Given the description of an element on the screen output the (x, y) to click on. 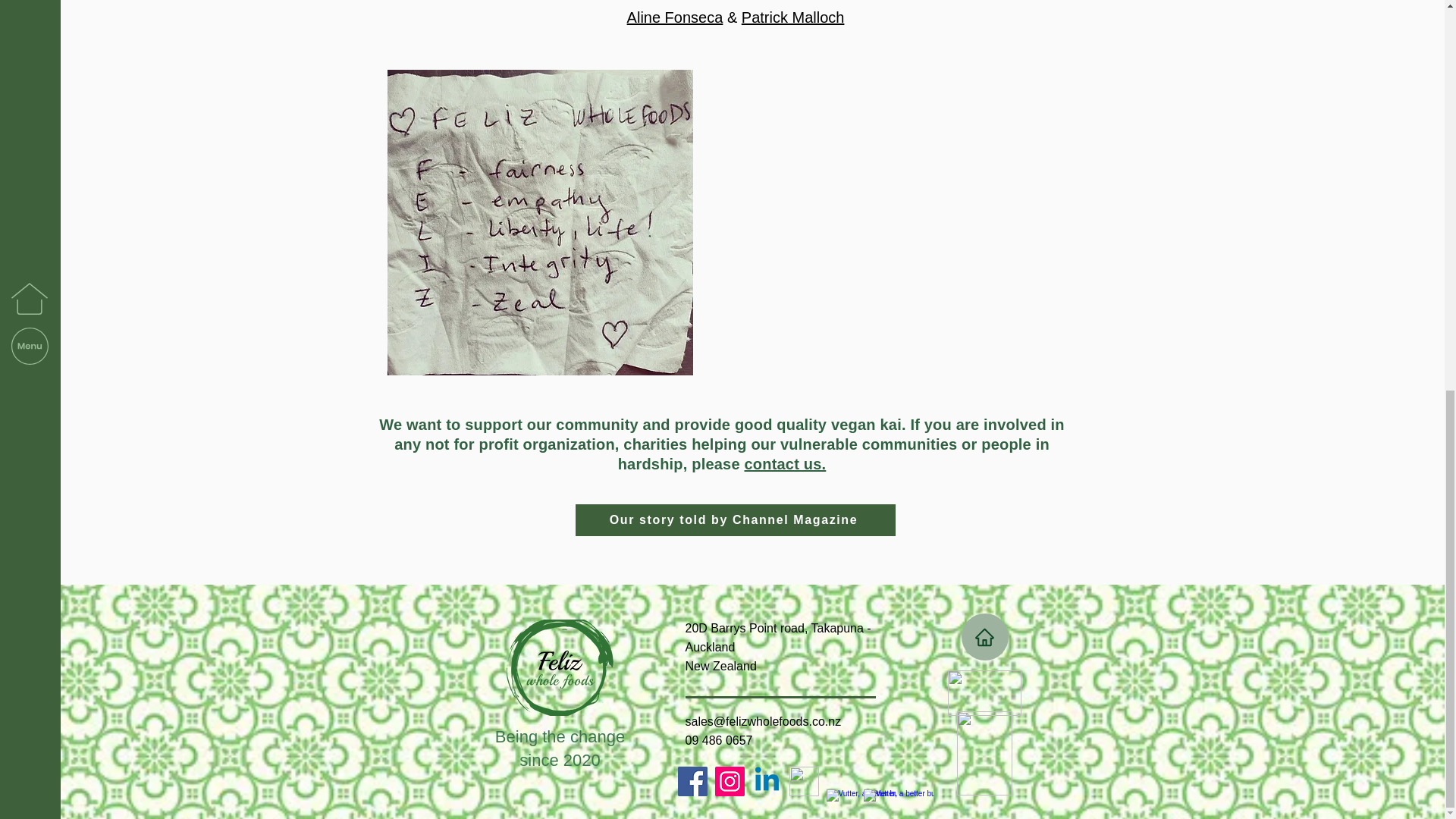
contact us. (785, 463)
Feliz Wholefoods and what we stand for (540, 222)
Our story told by Channel Magazine (735, 520)
Patrick Malloch (792, 17)
Get inspired (984, 692)
Aline Fonseca (675, 17)
